Given the description of an element on the screen output the (x, y) to click on. 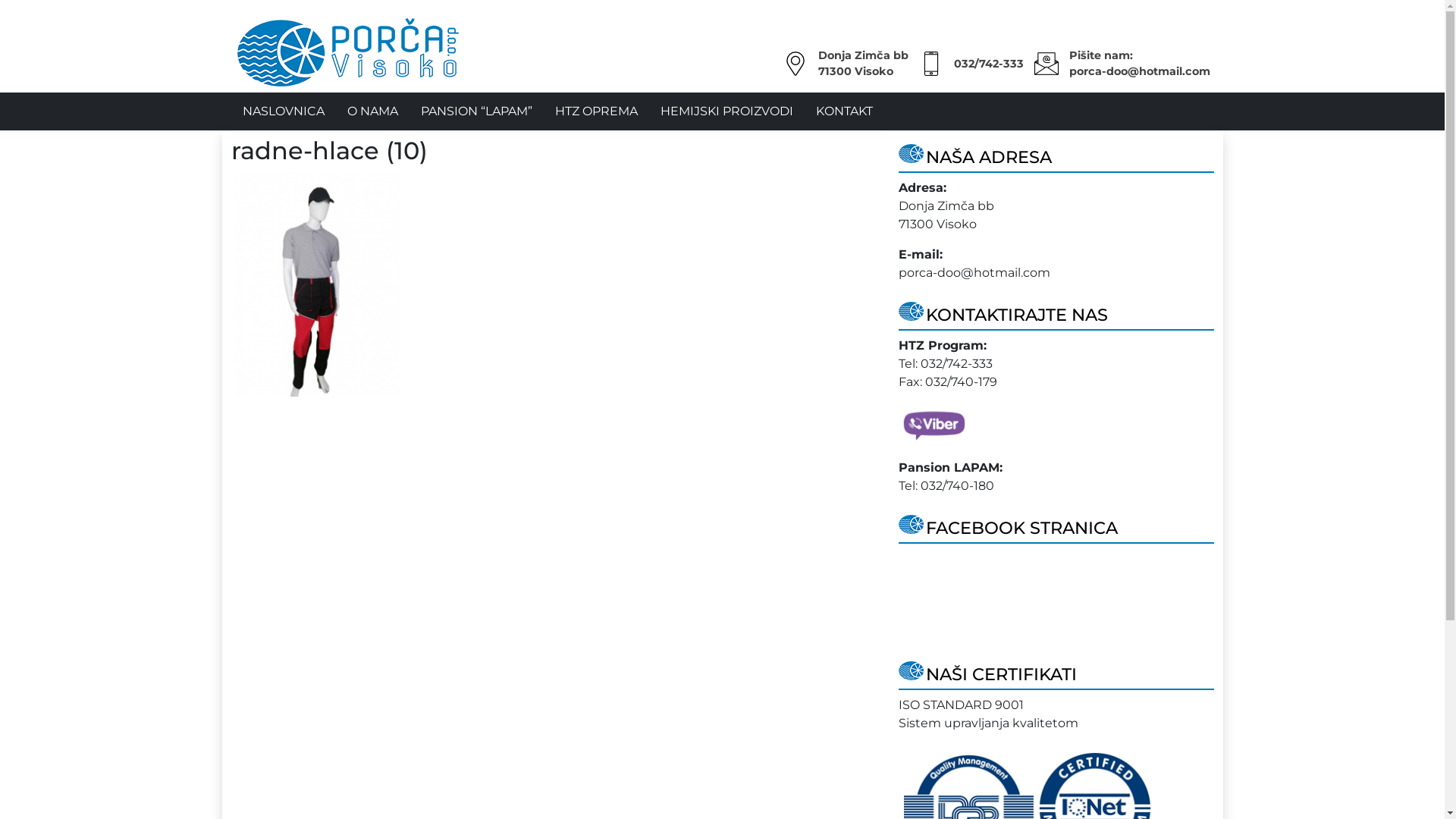
HTZ OPREMA Element type: text (595, 111)
O NAMA Element type: text (371, 111)
NASLOVNICA Element type: text (282, 111)
KONTAKT Element type: text (843, 111)
HEMIJSKI PROIZVODI Element type: text (726, 111)
